Given the description of an element on the screen output the (x, y) to click on. 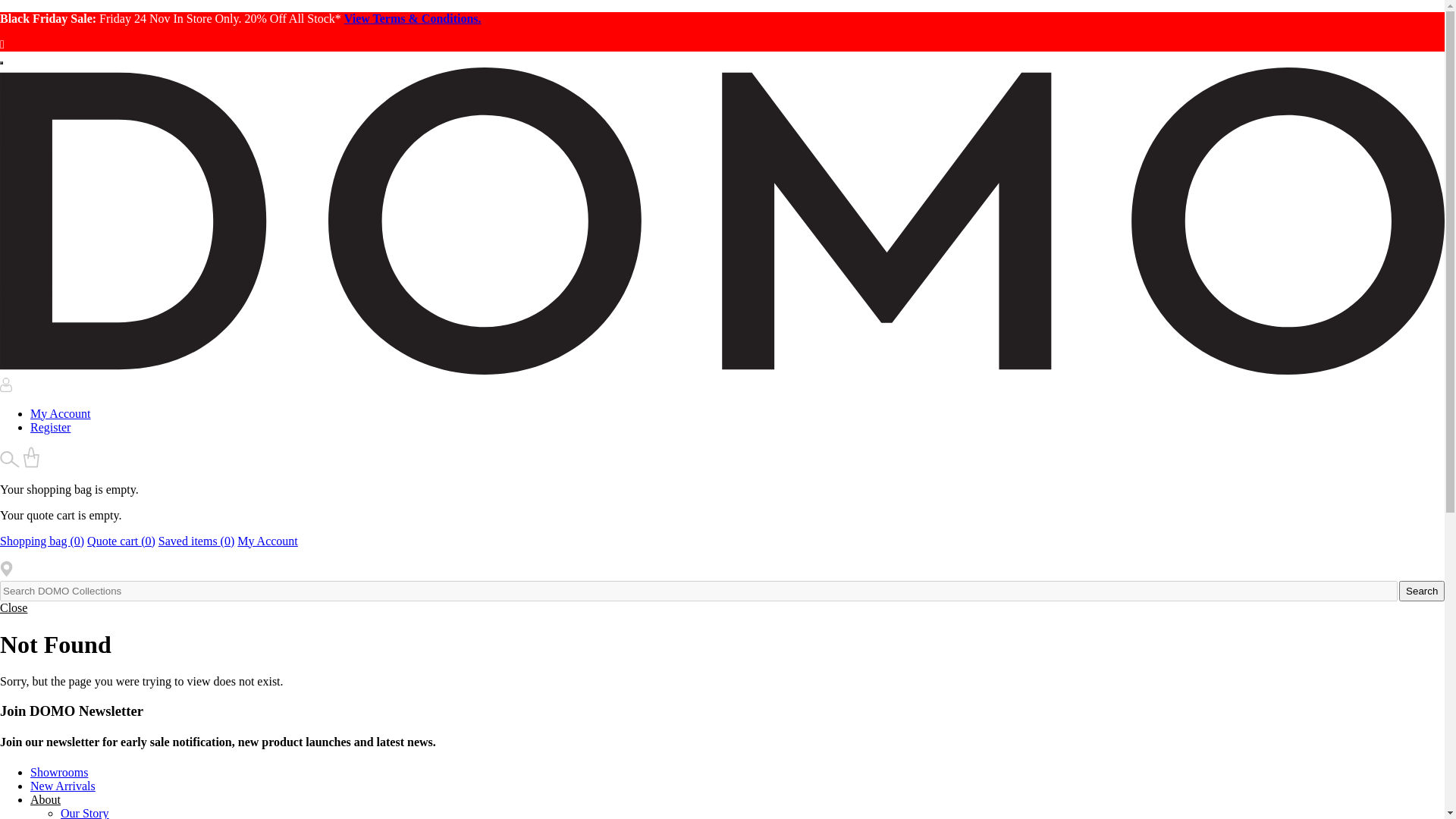
About Element type: text (45, 799)
Showrooms Element type: text (58, 771)
Close Element type: text (13, 607)
Shopping bag (0) Element type: text (42, 540)
My Account Element type: text (267, 540)
Register Element type: text (50, 426)
New Arrivals Element type: text (62, 785)
My Account Element type: text (60, 413)
Saved items (0) Element type: text (196, 540)
View Terms & Conditions. Element type: text (412, 18)
Quote cart (0) Element type: text (121, 540)
Search Element type: text (1421, 590)
